Given the description of an element on the screen output the (x, y) to click on. 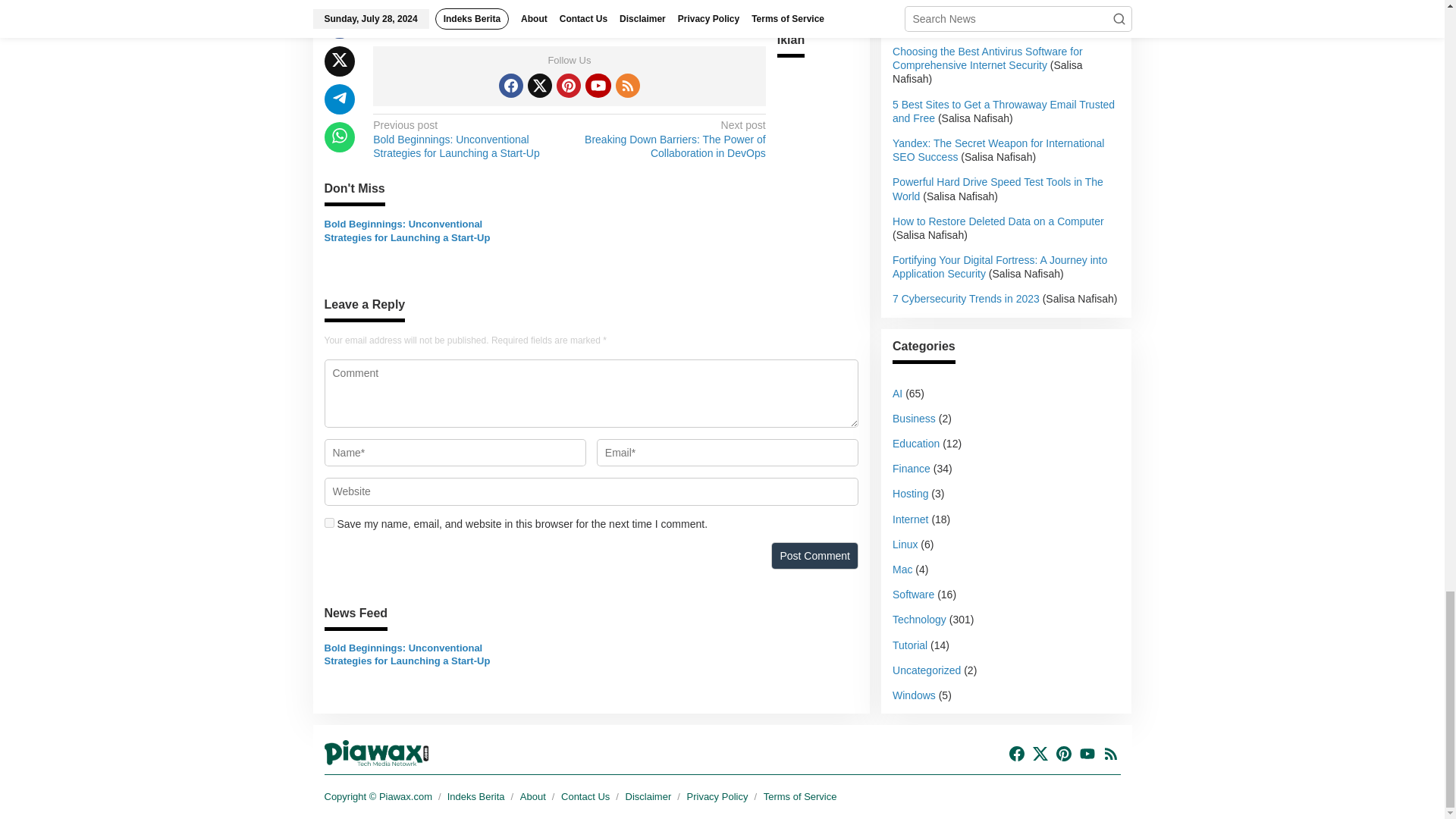
yes (329, 522)
Post Comment (815, 555)
